Given the description of an element on the screen output the (x, y) to click on. 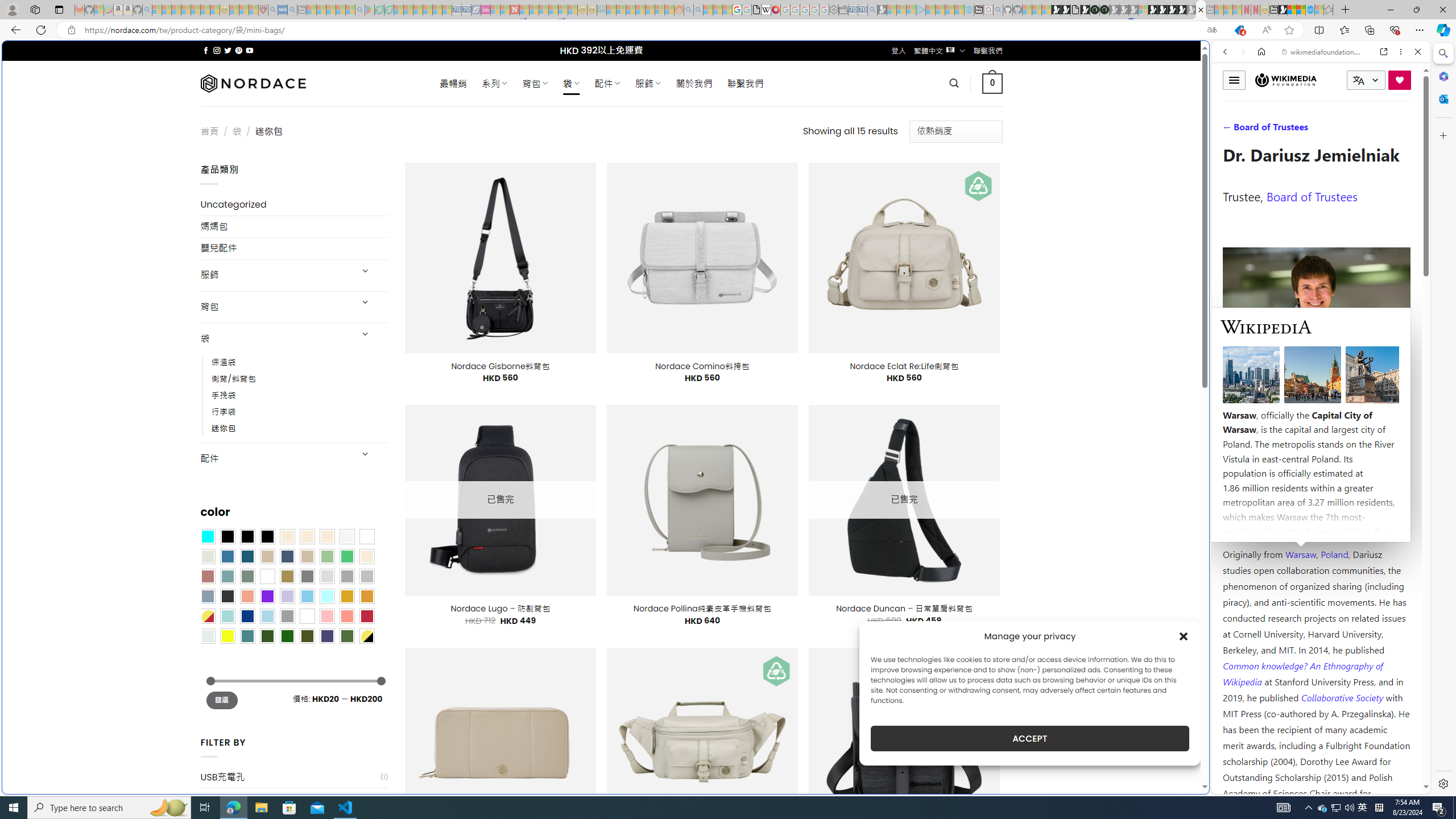
Terms of Use Agreement - Sleeping (378, 9)
World - MSN (1291, 9)
